Given the description of an element on the screen output the (x, y) to click on. 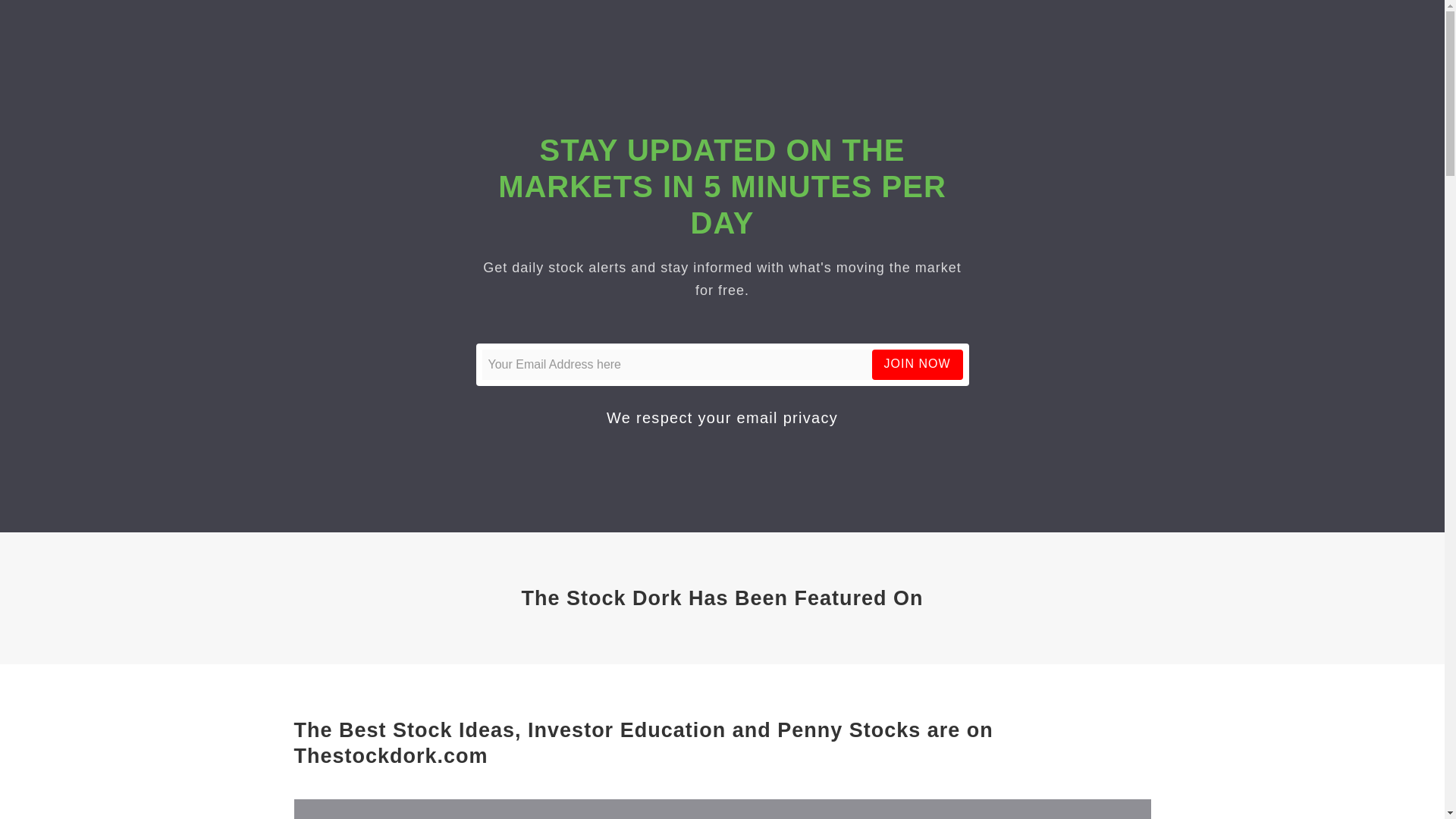
Join Now (917, 363)
Join Now (917, 363)
Privacy Policy (787, 417)
email privacy (787, 417)
